Given the description of an element on the screen output the (x, y) to click on. 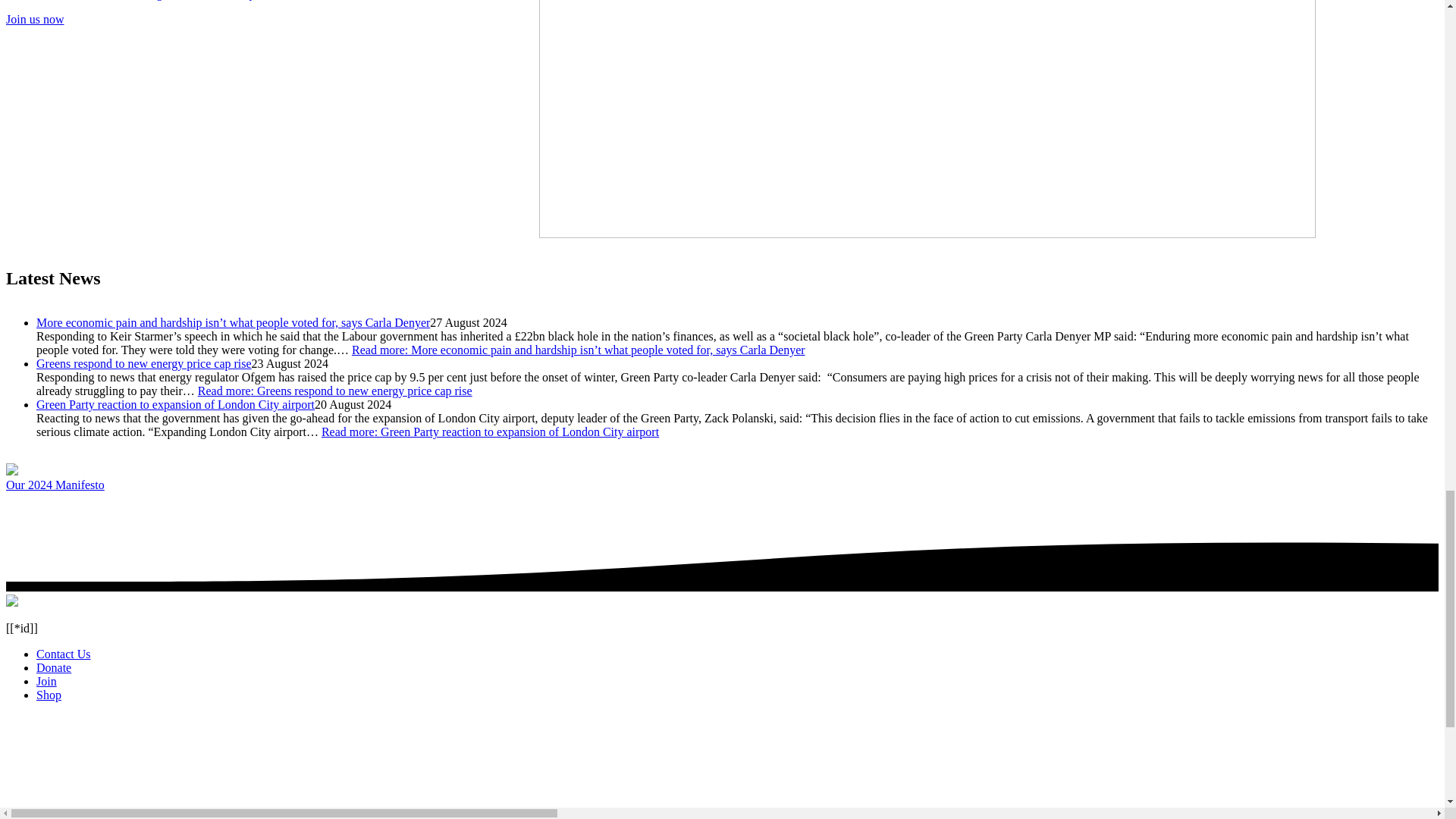
Shop (48, 694)
Donate (53, 667)
Green Party reaction to expansion of London City airport (175, 404)
Join us now (34, 19)
Our 2024 Manifesto (54, 484)
Greens respond to new energy price cap rise (143, 363)
Read more: Greens respond to new energy price cap rise (334, 390)
Contact Us (63, 653)
Join (46, 680)
